Given the description of an element on the screen output the (x, y) to click on. 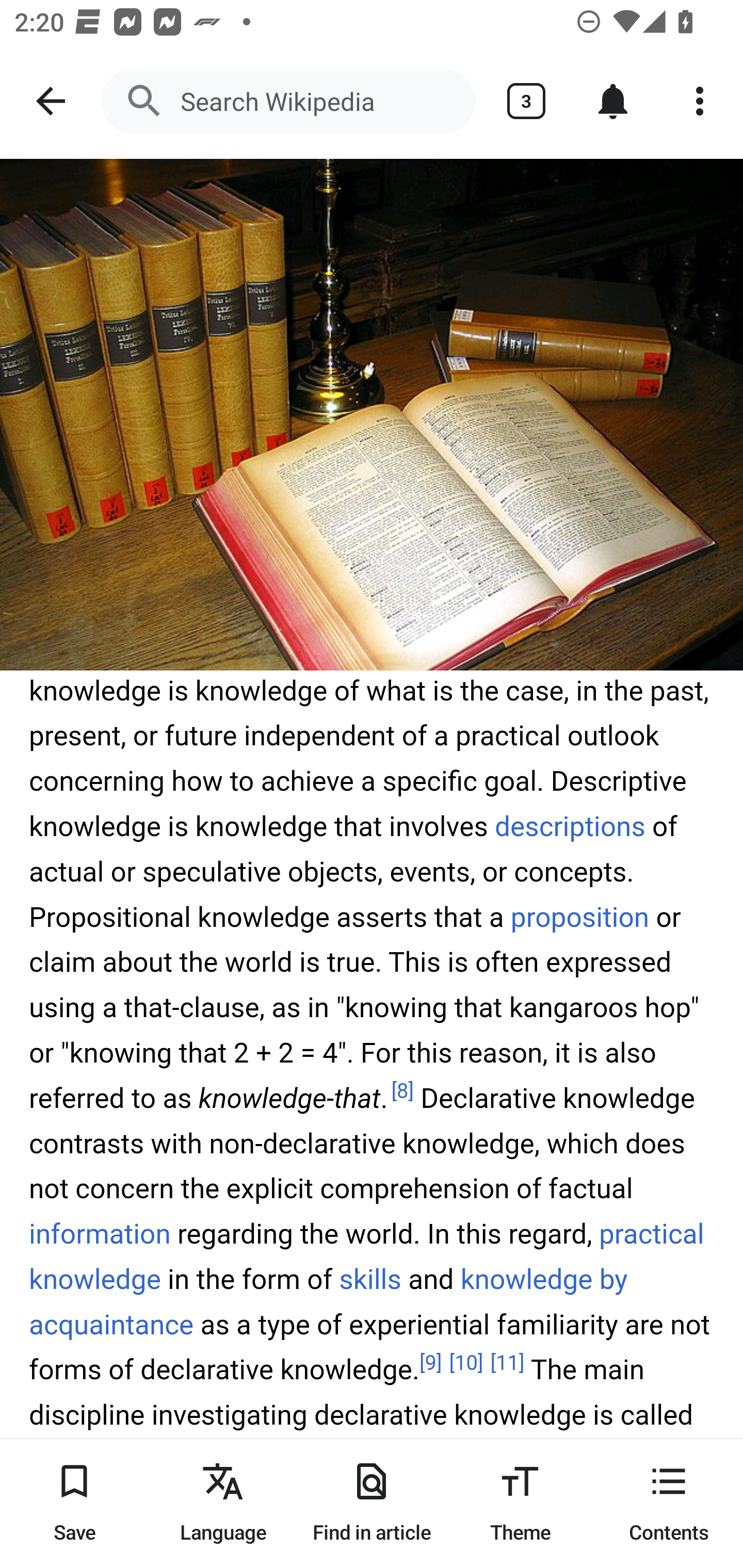
Show tabs 3 (525, 100)
Notifications (612, 100)
Navigate up (50, 101)
More options (699, 101)
Search Wikipedia (288, 100)
Image: Declarative knowledge (371, 414)
descriptions (570, 827)
proposition (579, 917)
[] [ 8 ] (402, 1091)
information (99, 1235)
skills (369, 1280)
[] [ 9 ] (430, 1363)
[] [ 10 ] (465, 1363)
[] [ 11 ] (506, 1363)
Save (74, 1502)
Language (222, 1502)
Find in article (371, 1502)
Theme (519, 1502)
Contents (668, 1502)
